Given the description of an element on the screen output the (x, y) to click on. 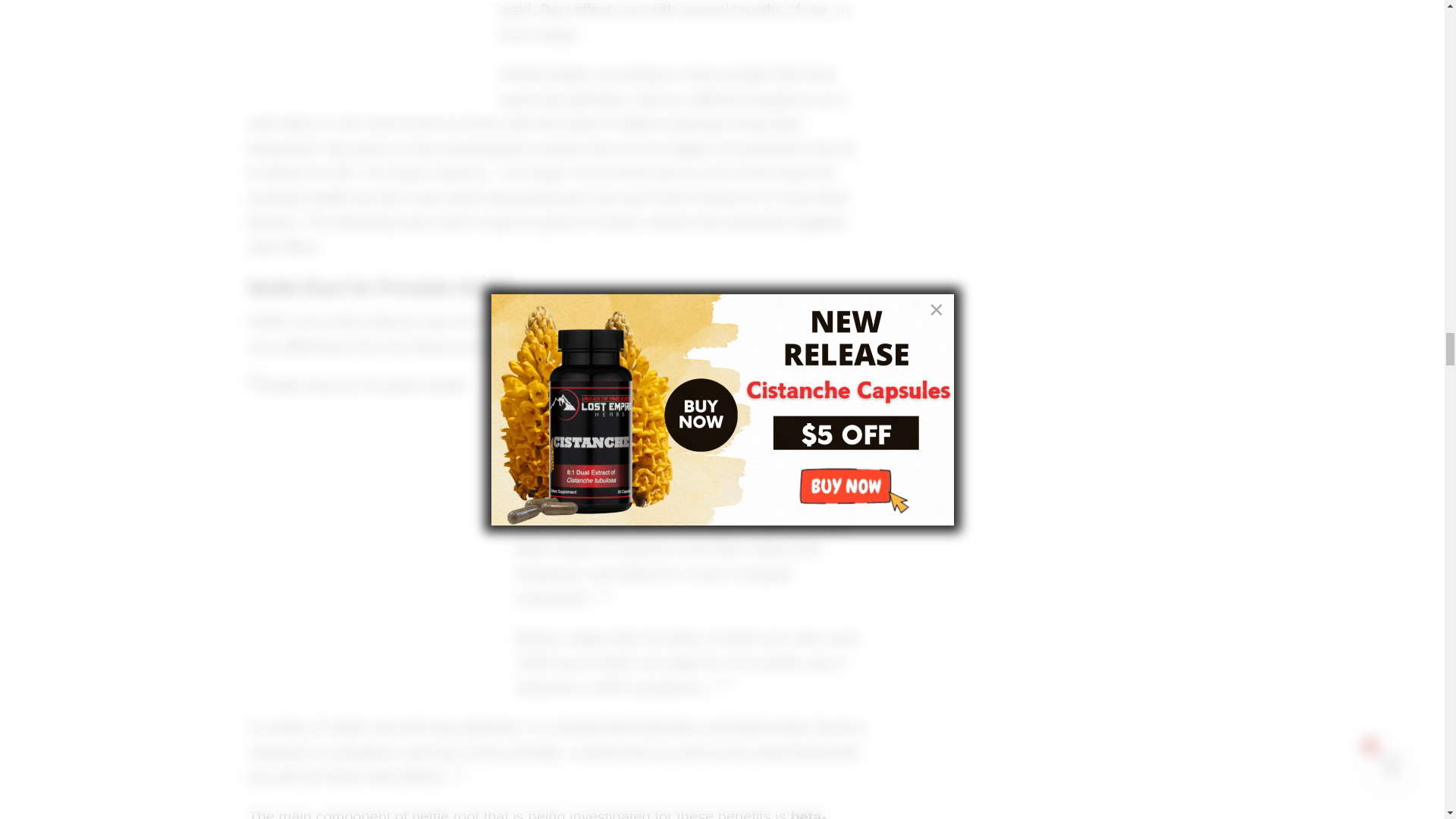
Saw Palmetto - Herbs for Prostate Health (362, 44)
